Given the description of an element on the screen output the (x, y) to click on. 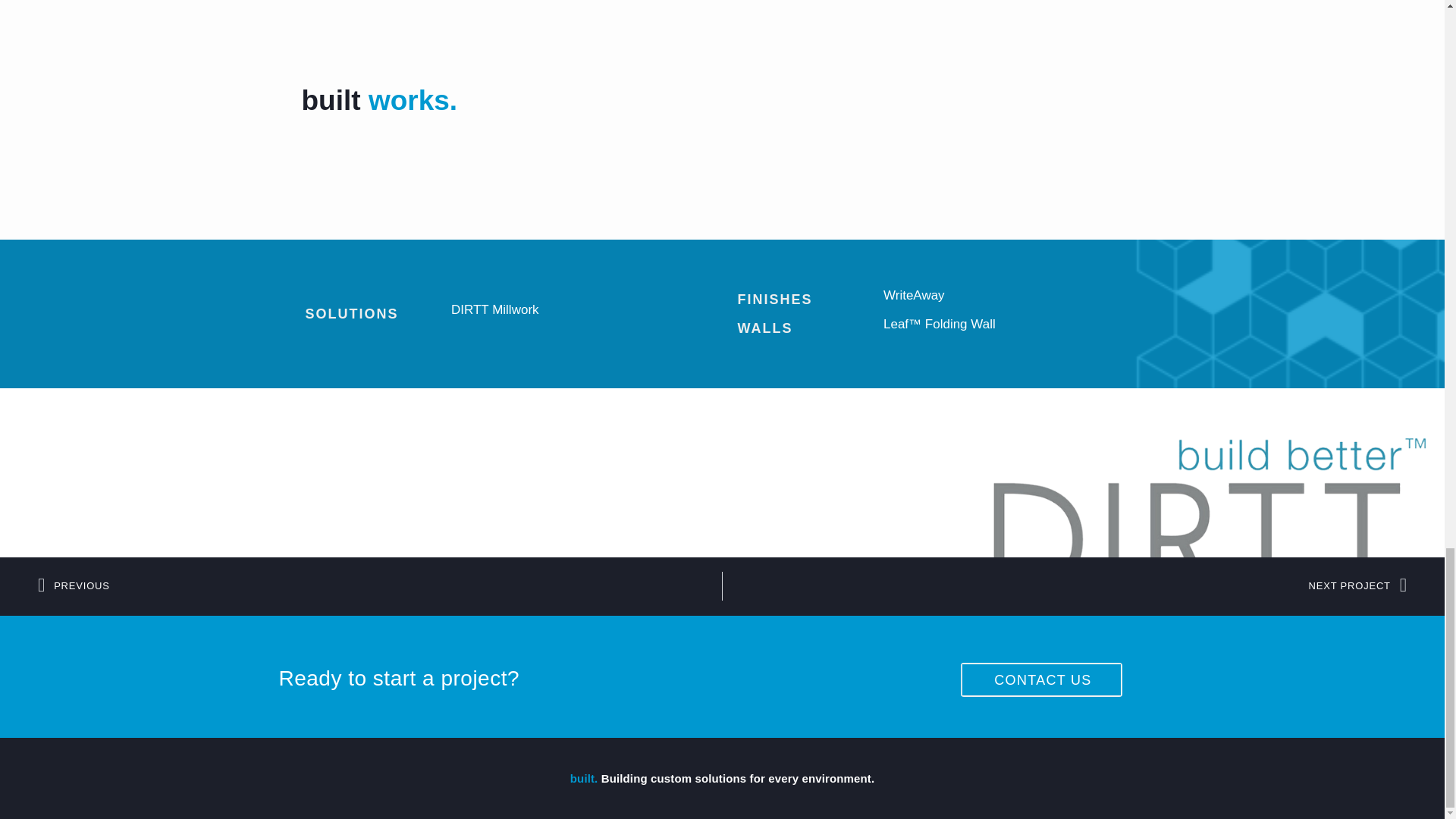
NEXT PROJECT (1064, 585)
PREVIOUS (379, 585)
CONTACT US (1040, 679)
